Given the description of an element on the screen output the (x, y) to click on. 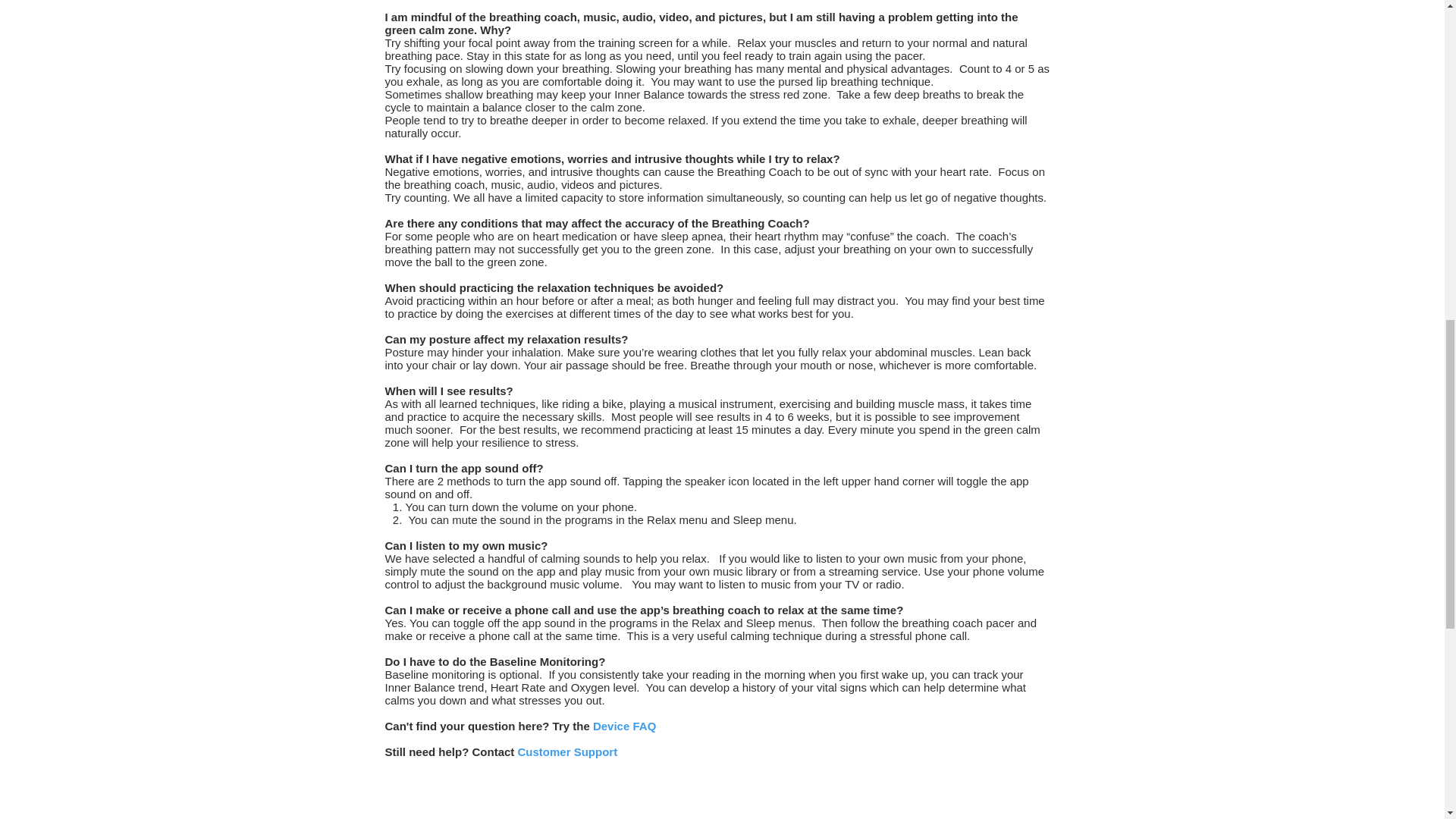
Device FAQ (624, 725)
Customer Support (567, 751)
